Given the description of an element on the screen output the (x, y) to click on. 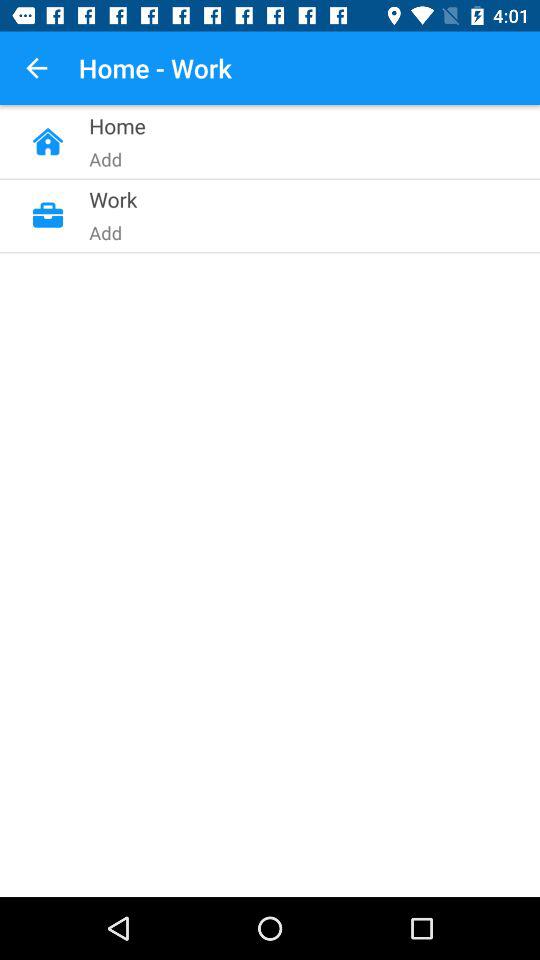
select add which is below work (227, 380)
